Given the description of an element on the screen output the (x, y) to click on. 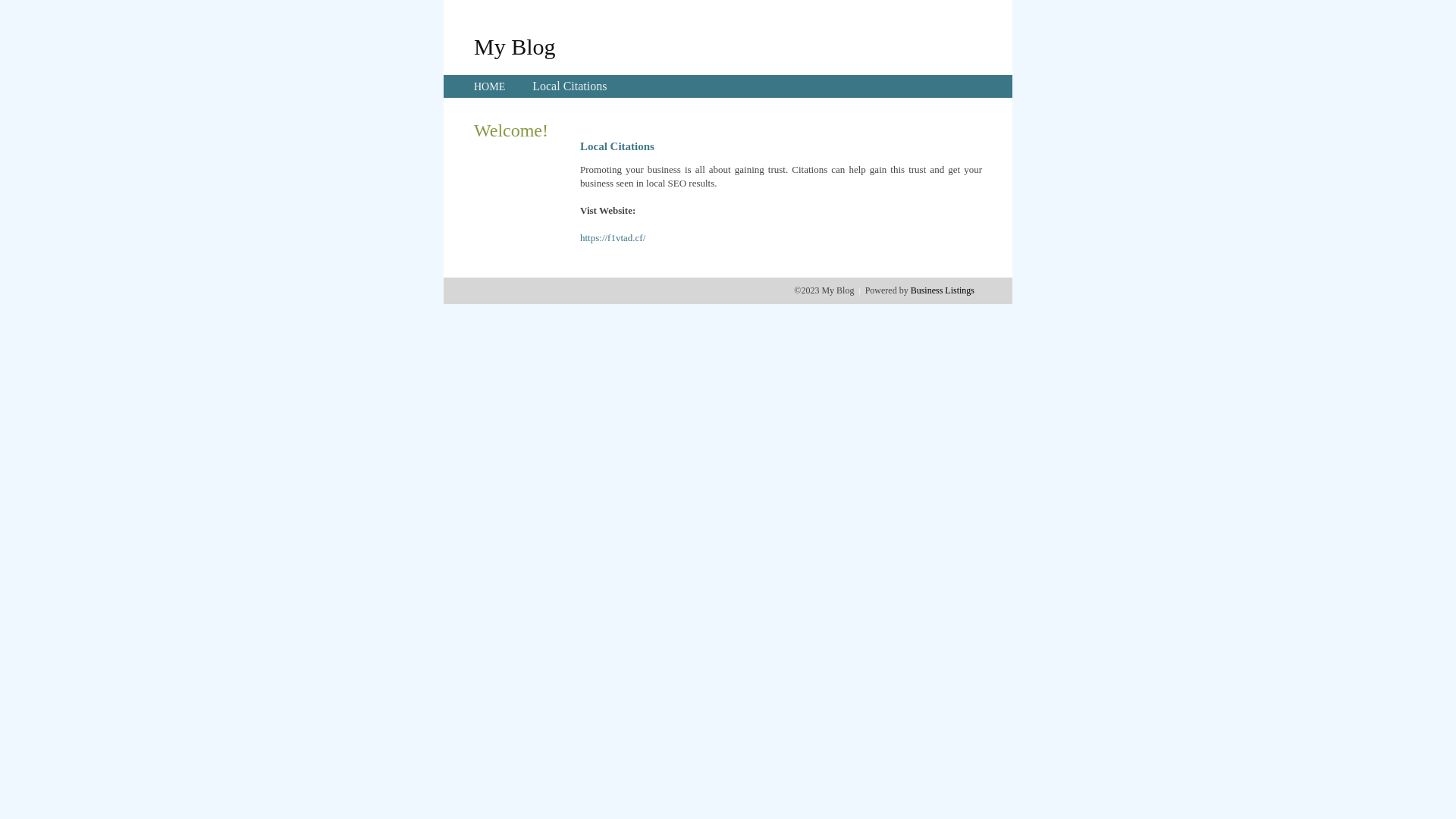
https://f1vtad.cf/ Element type: text (612, 237)
My Blog Element type: text (514, 46)
Business Listings Element type: text (942, 290)
Local Citations Element type: text (569, 85)
HOME Element type: text (489, 86)
